Given the description of an element on the screen output the (x, y) to click on. 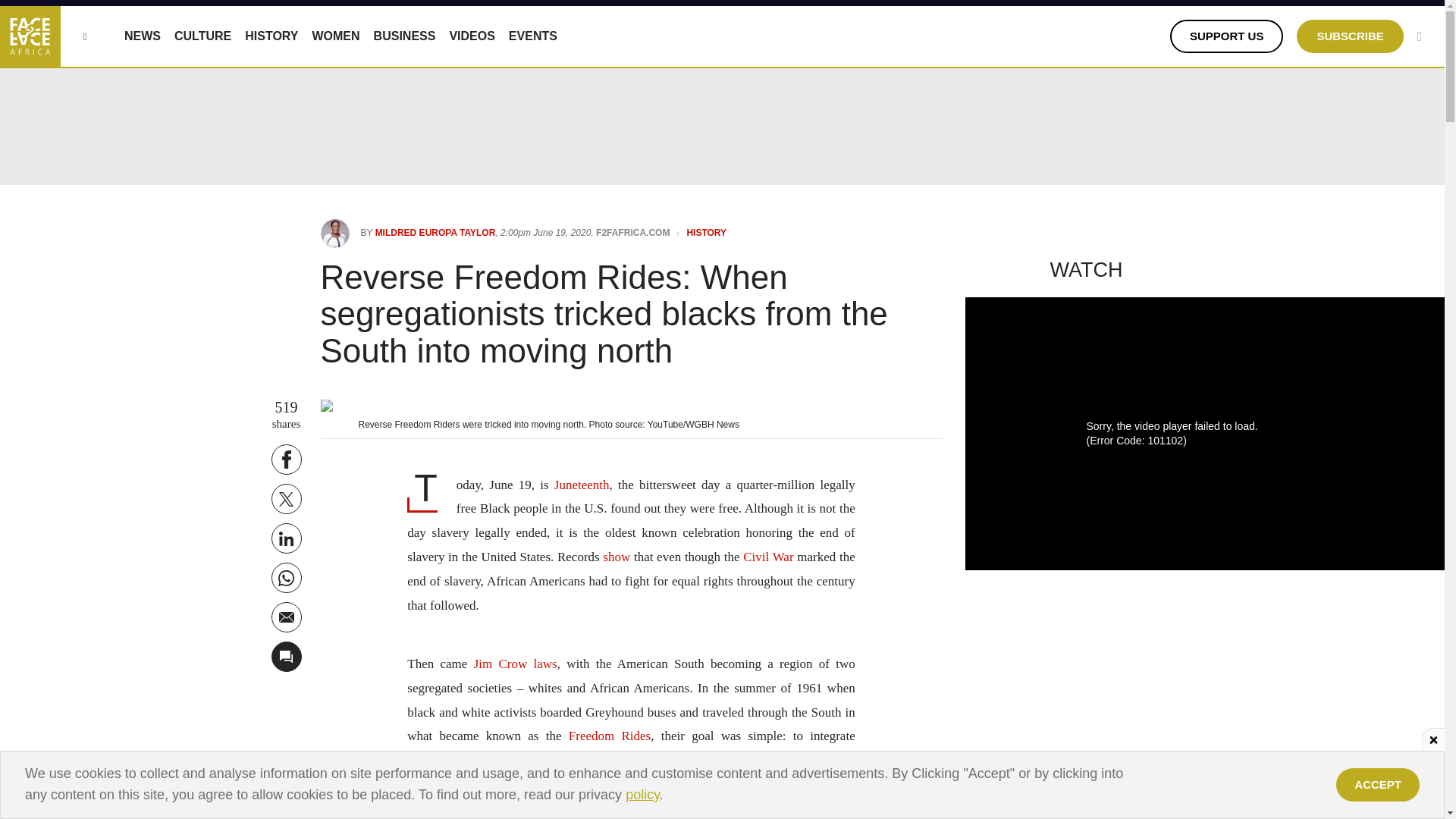
HISTORY (271, 35)
BUSINESS (404, 35)
CULTURE (202, 35)
SUPPORT US (1227, 36)
NEWS (141, 35)
WOMEN (335, 35)
3rd party ad content (722, 785)
EVENTS (532, 35)
SUBSCRIBE (1350, 36)
3rd party ad content (721, 785)
VIDEOS (471, 35)
